Given the description of an element on the screen output the (x, y) to click on. 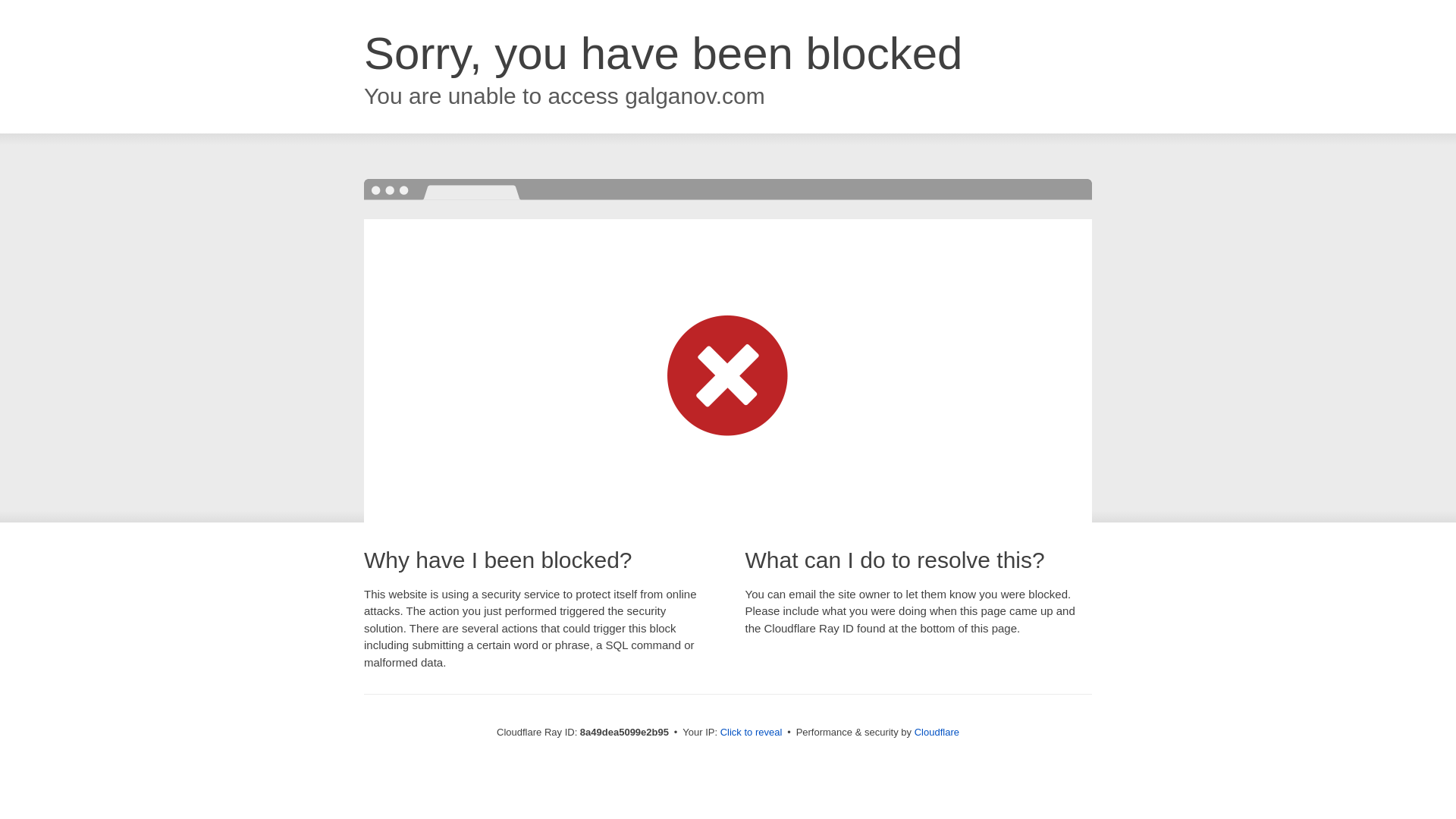
Click to reveal (751, 732)
Cloudflare (936, 731)
